Given the description of an element on the screen output the (x, y) to click on. 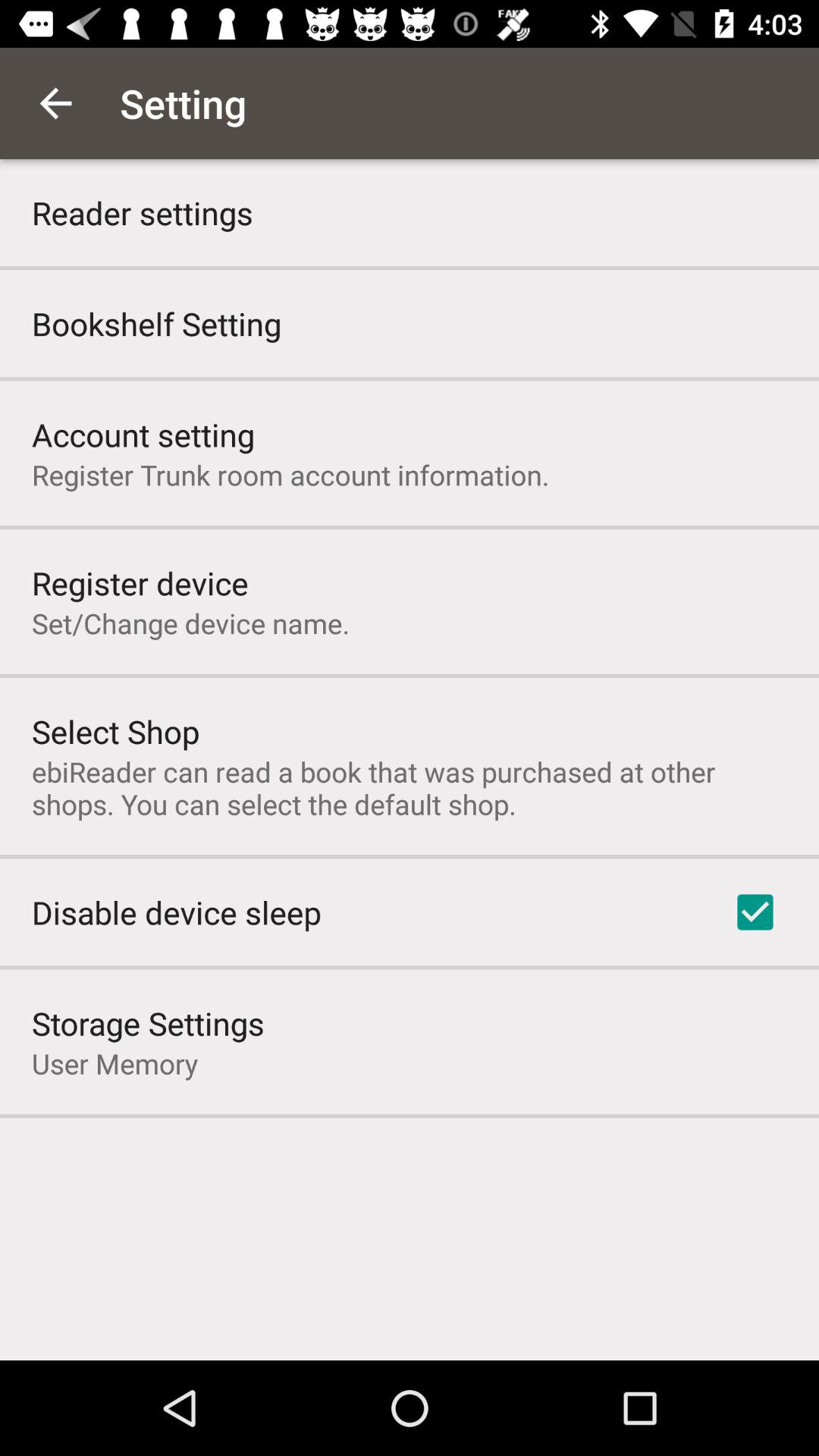
press the icon below the ebireader can read item (755, 912)
